Given the description of an element on the screen output the (x, y) to click on. 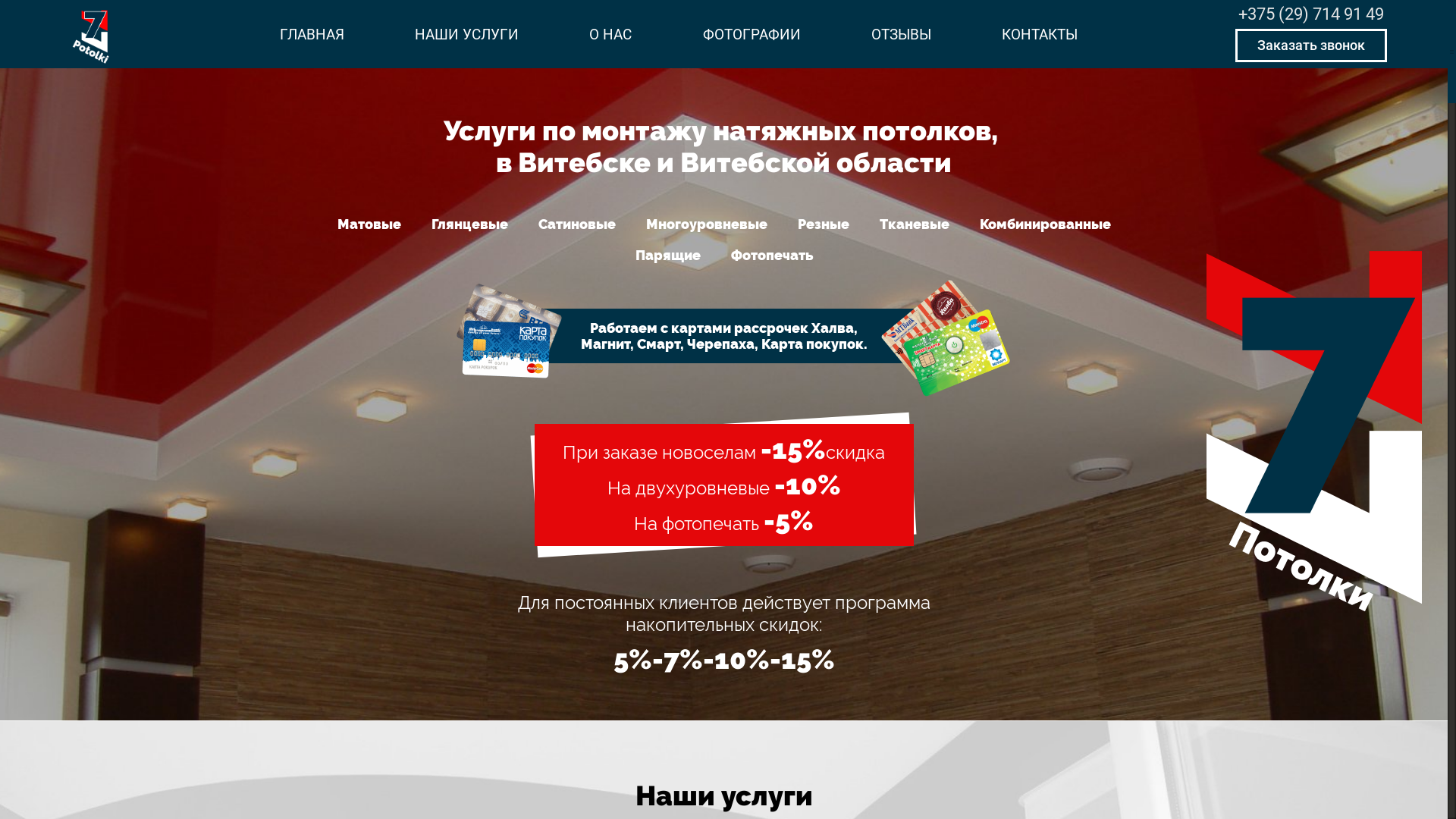
+375 (29) 714 91 49 Element type: text (1310, 14)
